Given the description of an element on the screen output the (x, y) to click on. 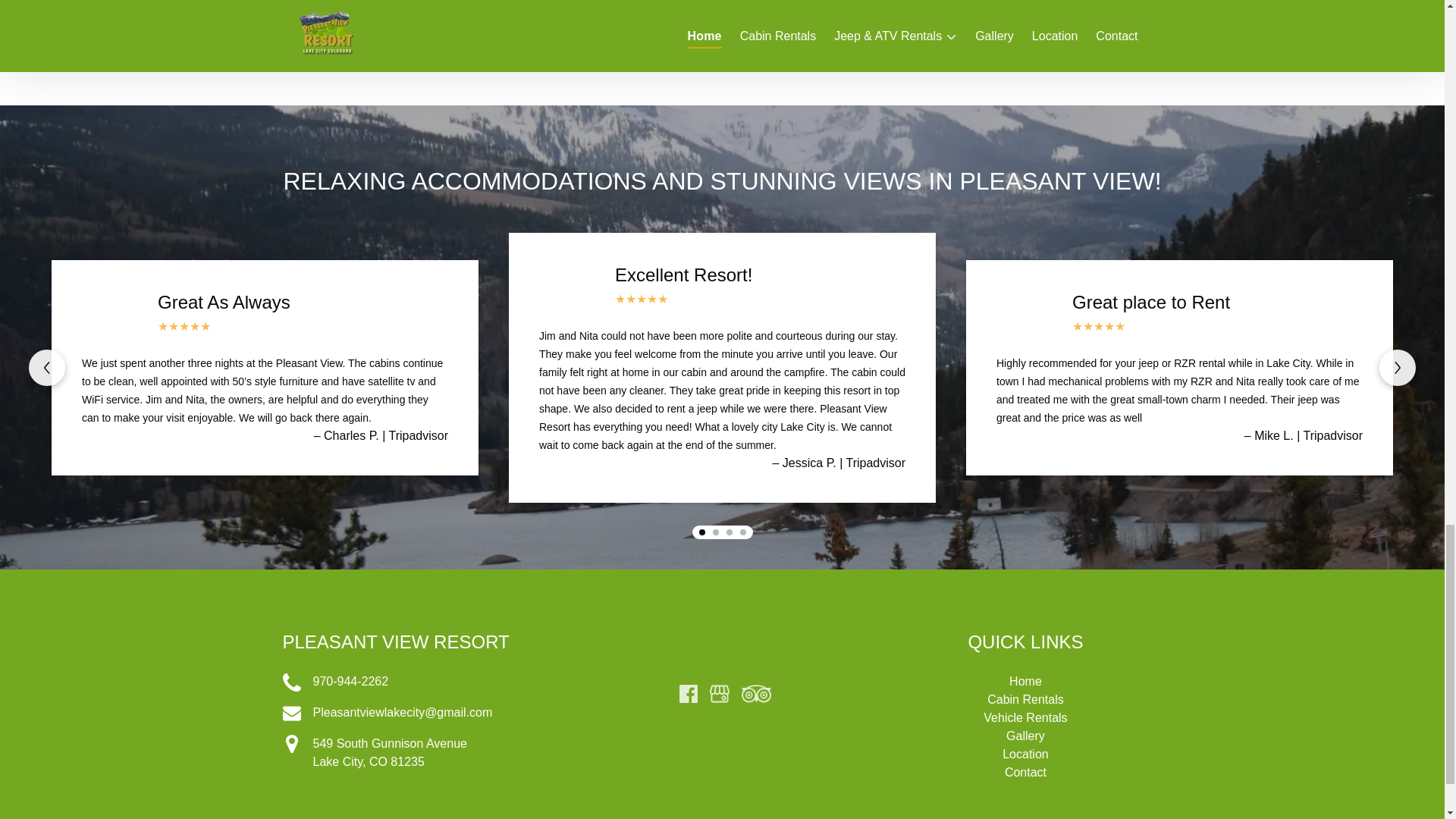
Previous (47, 367)
1 (418, 751)
Next (701, 532)
Envelope (1396, 367)
2 (290, 712)
4 (716, 532)
Map Marker (742, 532)
Phone (290, 743)
